Given the description of an element on the screen output the (x, y) to click on. 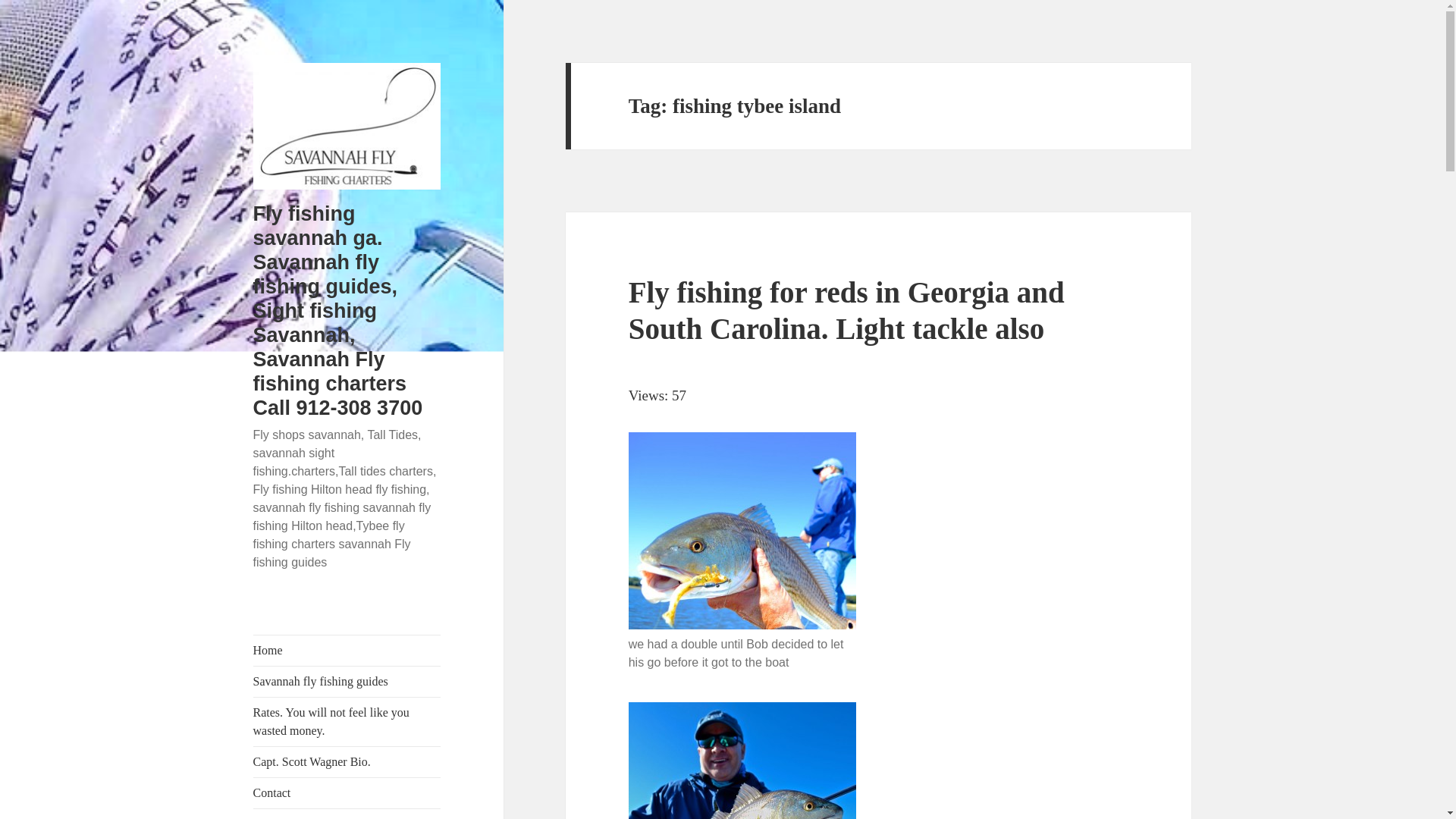
Rates. You will not feel like you wasted money. (347, 721)
Fly fishing Savannah ga. (347, 814)
Home (347, 650)
Capt. Scott Wagner Bio. (347, 761)
Savannah fly fishing guides (347, 681)
Contact (347, 793)
